Given the description of an element on the screen output the (x, y) to click on. 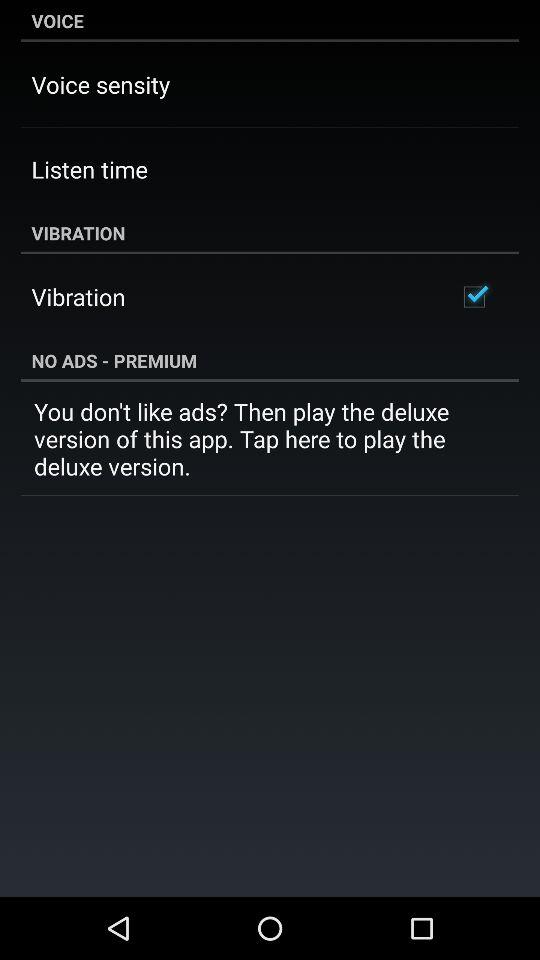
click voice sensity item (100, 84)
